Given the description of an element on the screen output the (x, y) to click on. 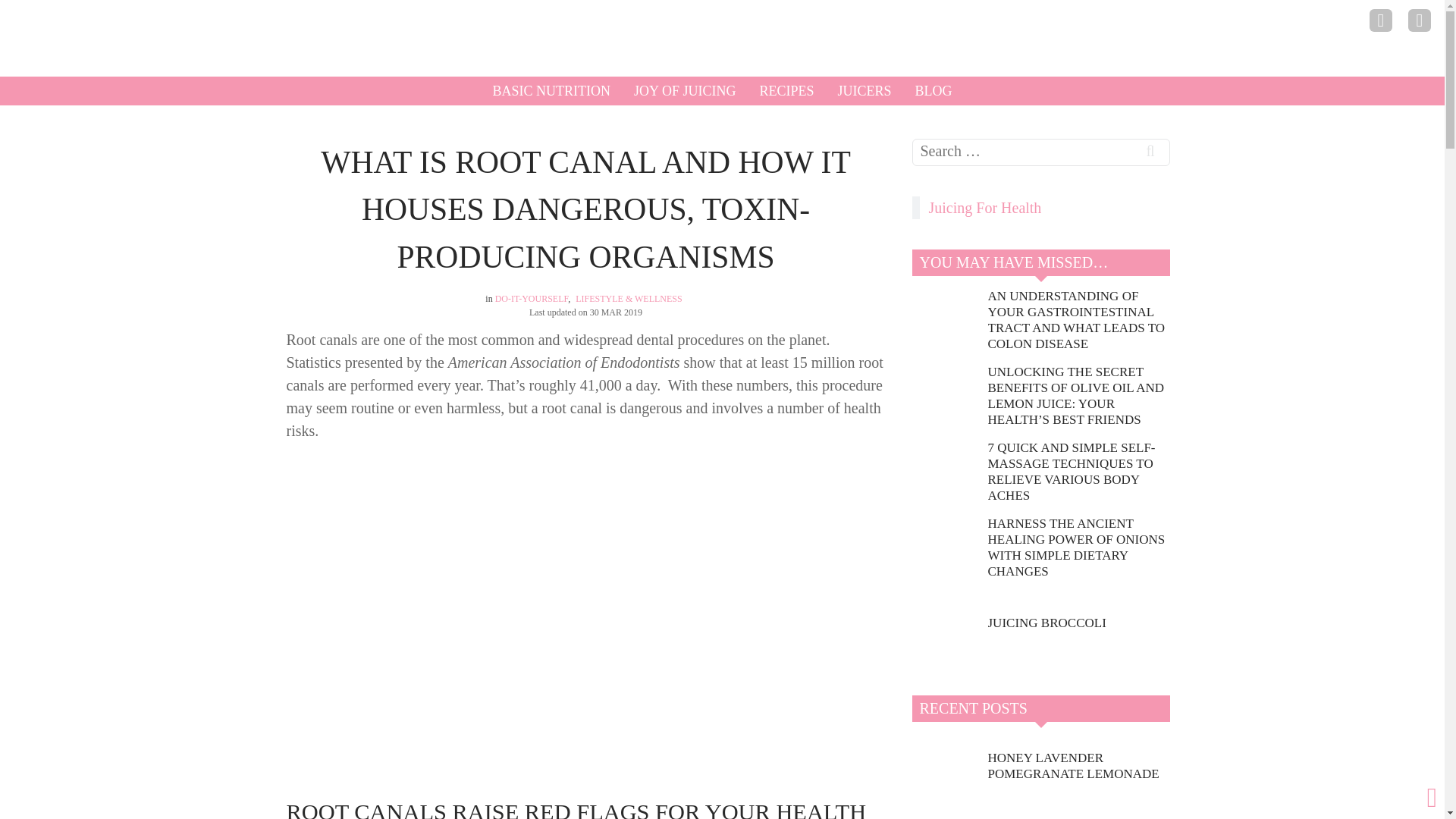
Permalink to Juicing Broccoli (1046, 622)
BASIC NUTRITION (552, 90)
Search for: (1040, 152)
Do-It-Yourself (532, 298)
Permalink to Honey Lavender Pomegranate Lemonade (1078, 766)
RECIPES (786, 90)
JOY OF JUICING (684, 90)
Permalink to Papaya Juice for Constipation (1078, 813)
